Given the description of an element on the screen output the (x, y) to click on. 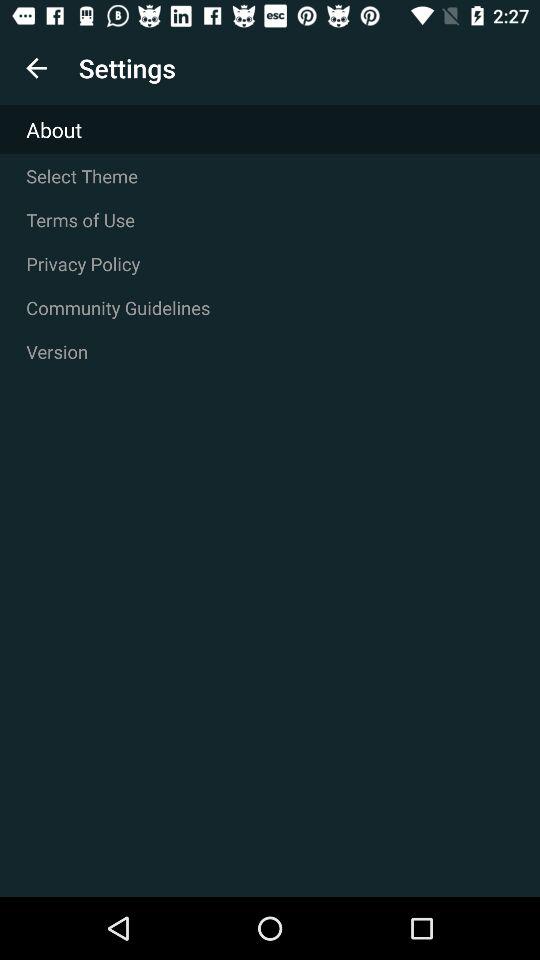
turn off the icon below community guidelines icon (270, 351)
